Given the description of an element on the screen output the (x, y) to click on. 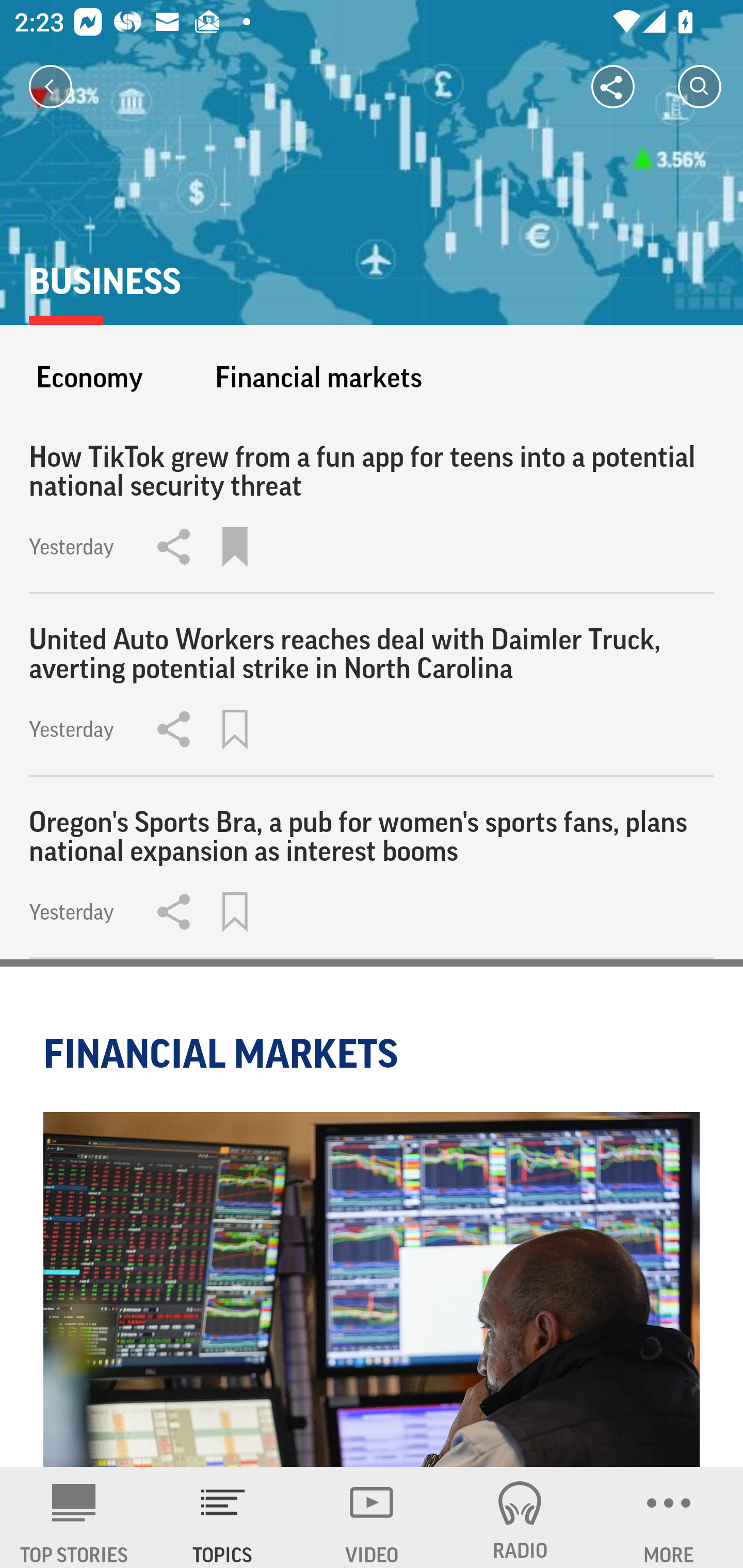
Economy (89, 376)
Financial markets (317, 376)
FINANCIAL MARKETS (223, 1053)
AP News TOP STORIES (74, 1517)
TOPICS (222, 1517)
VIDEO (371, 1517)
RADIO (519, 1517)
MORE (668, 1517)
